Given the description of an element on the screen output the (x, y) to click on. 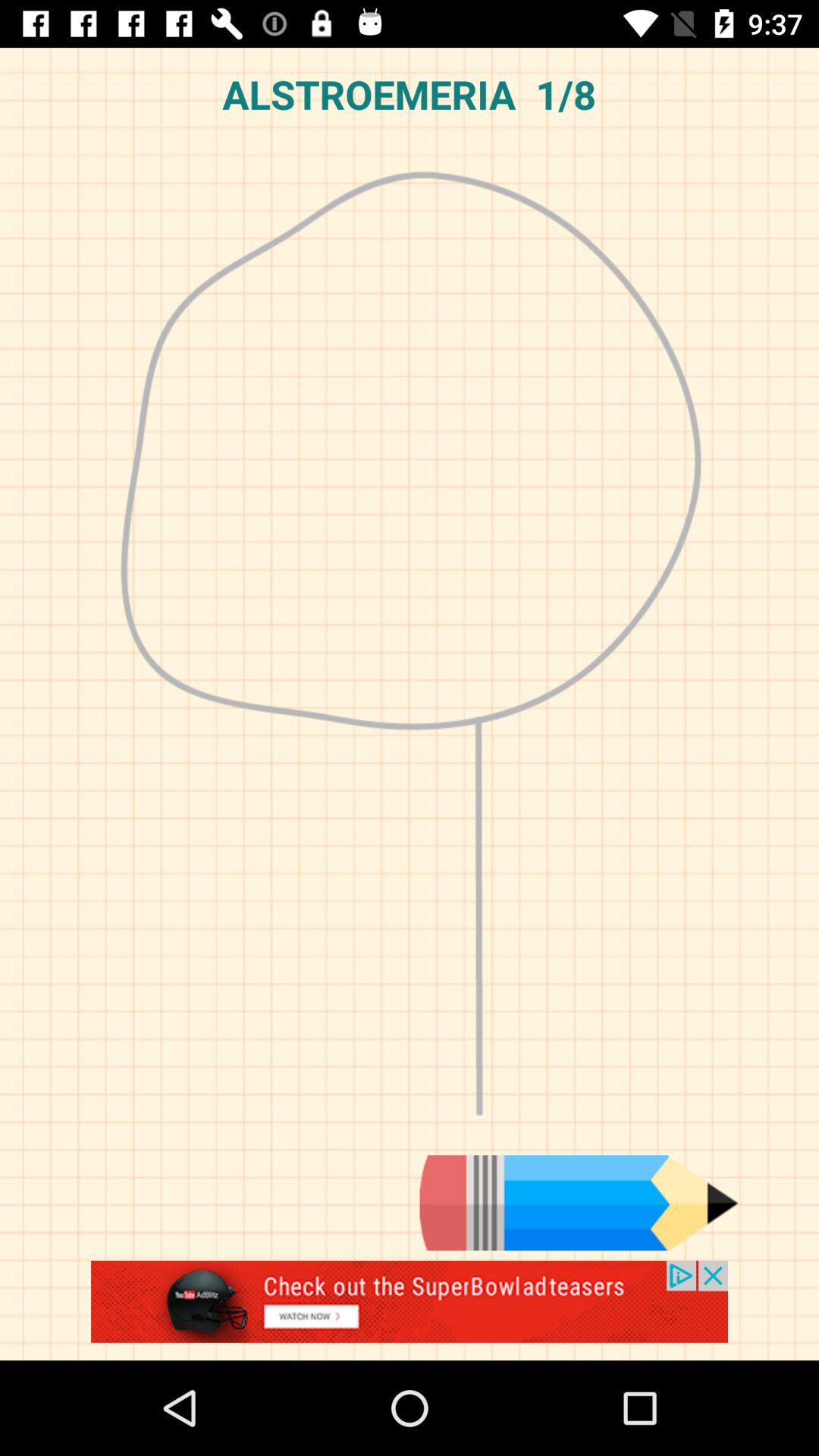
share advertisement (409, 1310)
